Given the description of an element on the screen output the (x, y) to click on. 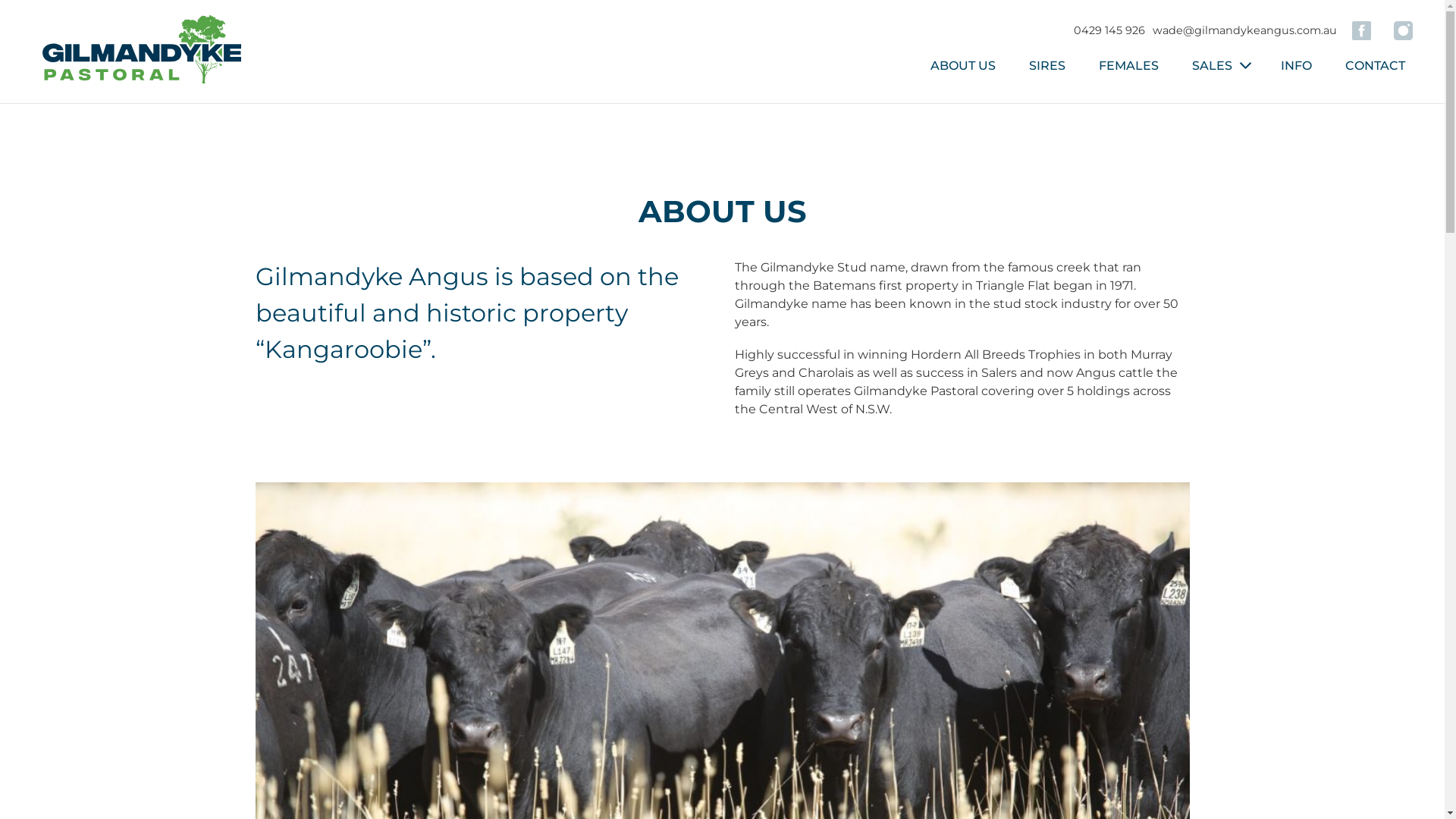
INFO Element type: text (1296, 65)
wade@gilmandykeangus.com.au Element type: text (1244, 30)
FEMALES Element type: text (1128, 65)
SALES Element type: text (1207, 65)
CONTACT Element type: text (1375, 65)
SIRES Element type: text (1046, 65)
ABOUT US Element type: text (962, 65)
0429 145 926 Element type: text (1109, 30)
